Given the description of an element on the screen output the (x, y) to click on. 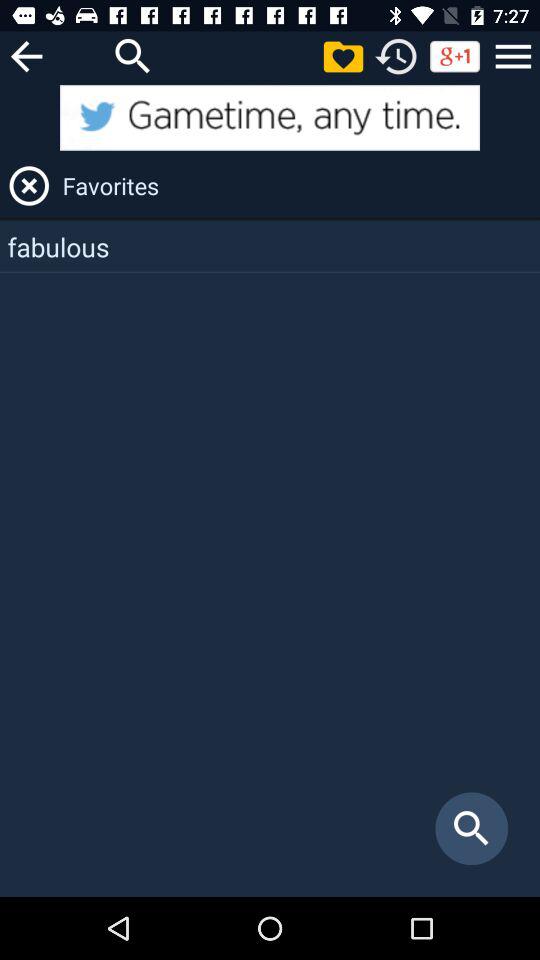
favorites (343, 56)
